Given the description of an element on the screen output the (x, y) to click on. 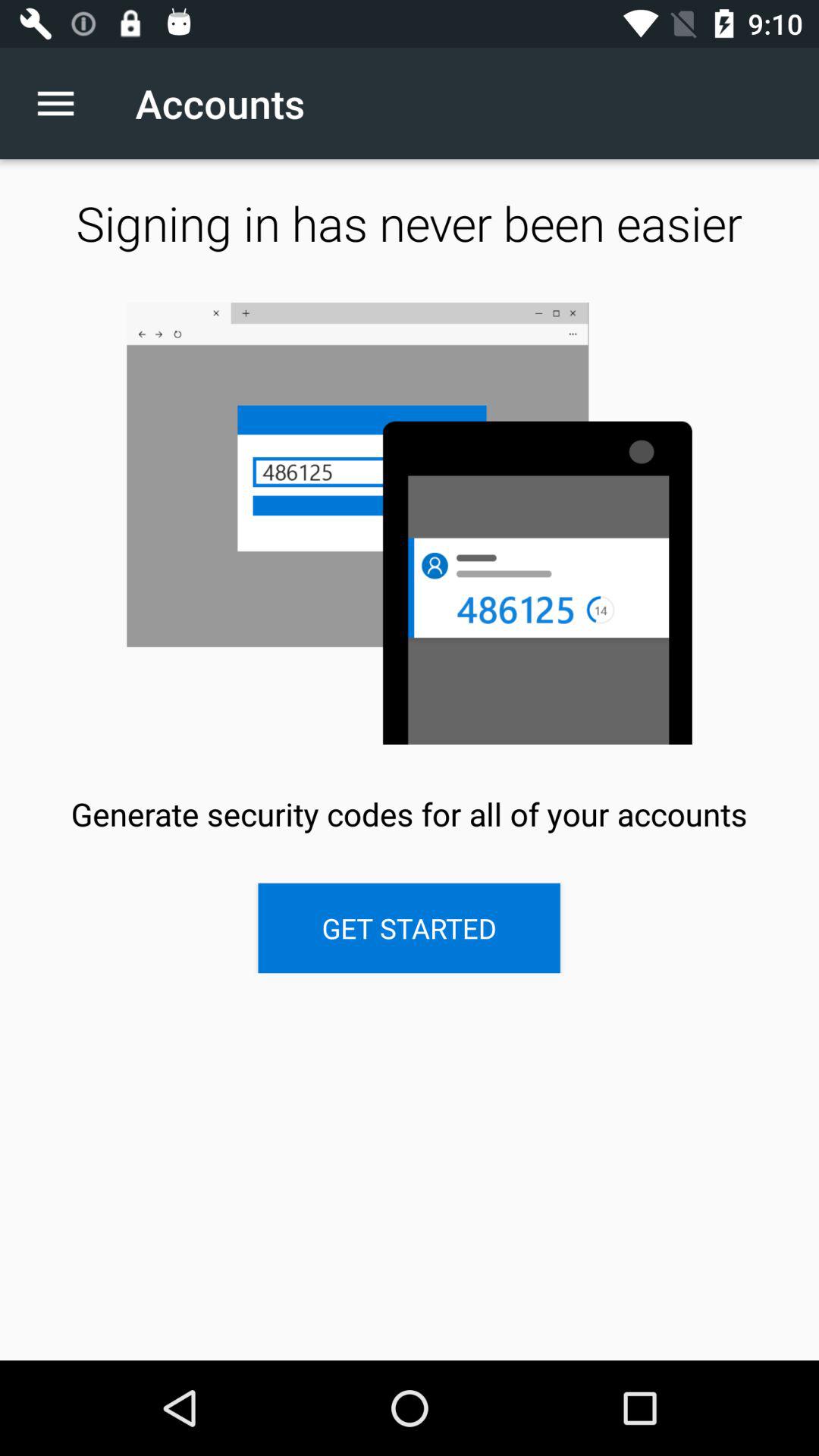
launch the item above signing in has icon (63, 103)
